Given the description of an element on the screen output the (x, y) to click on. 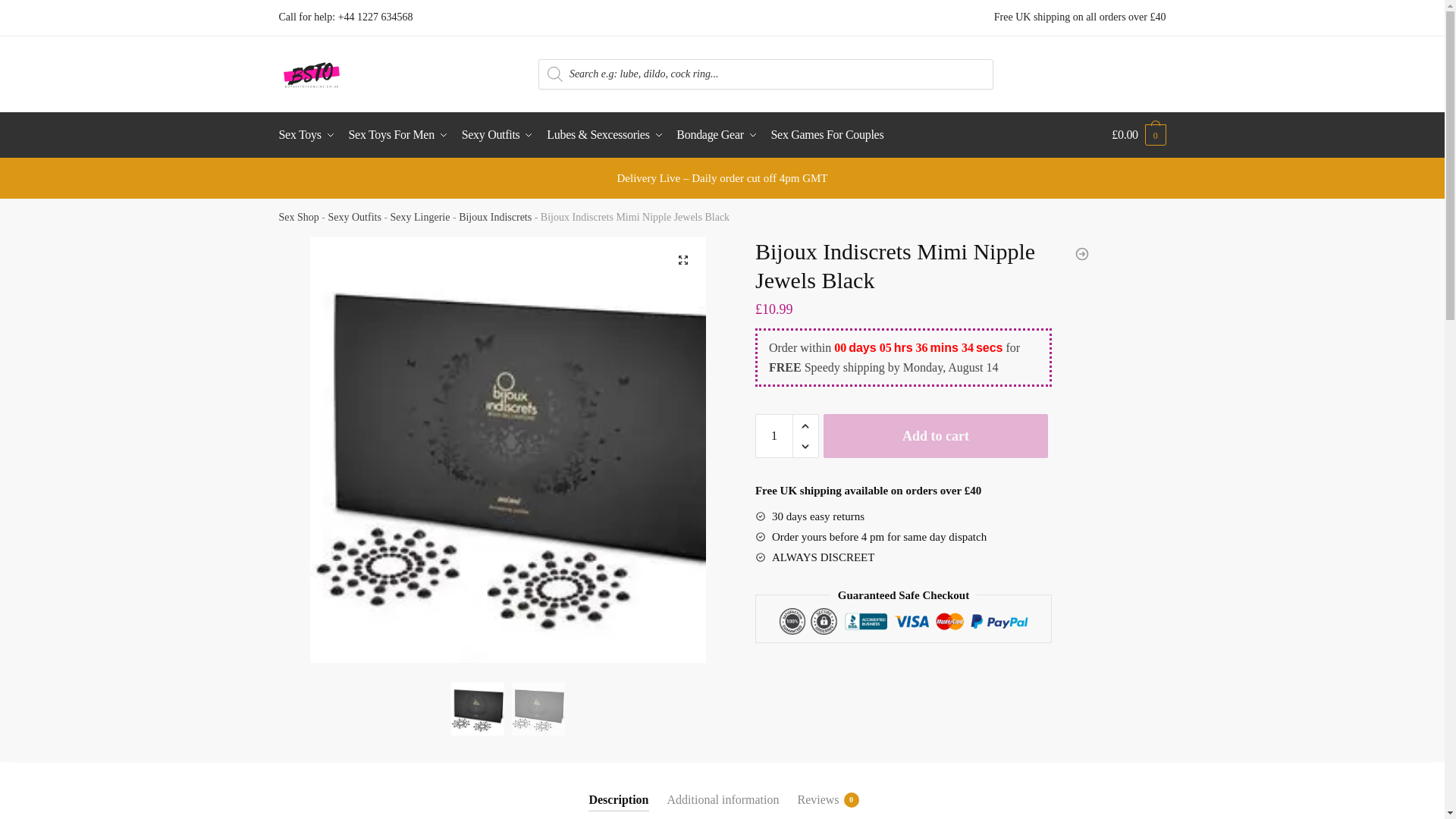
View your shopping cart (1139, 135)
Sex Toys For Men (397, 135)
Sex Toys (311, 135)
Sexy Outfits (496, 135)
